Given the description of an element on the screen output the (x, y) to click on. 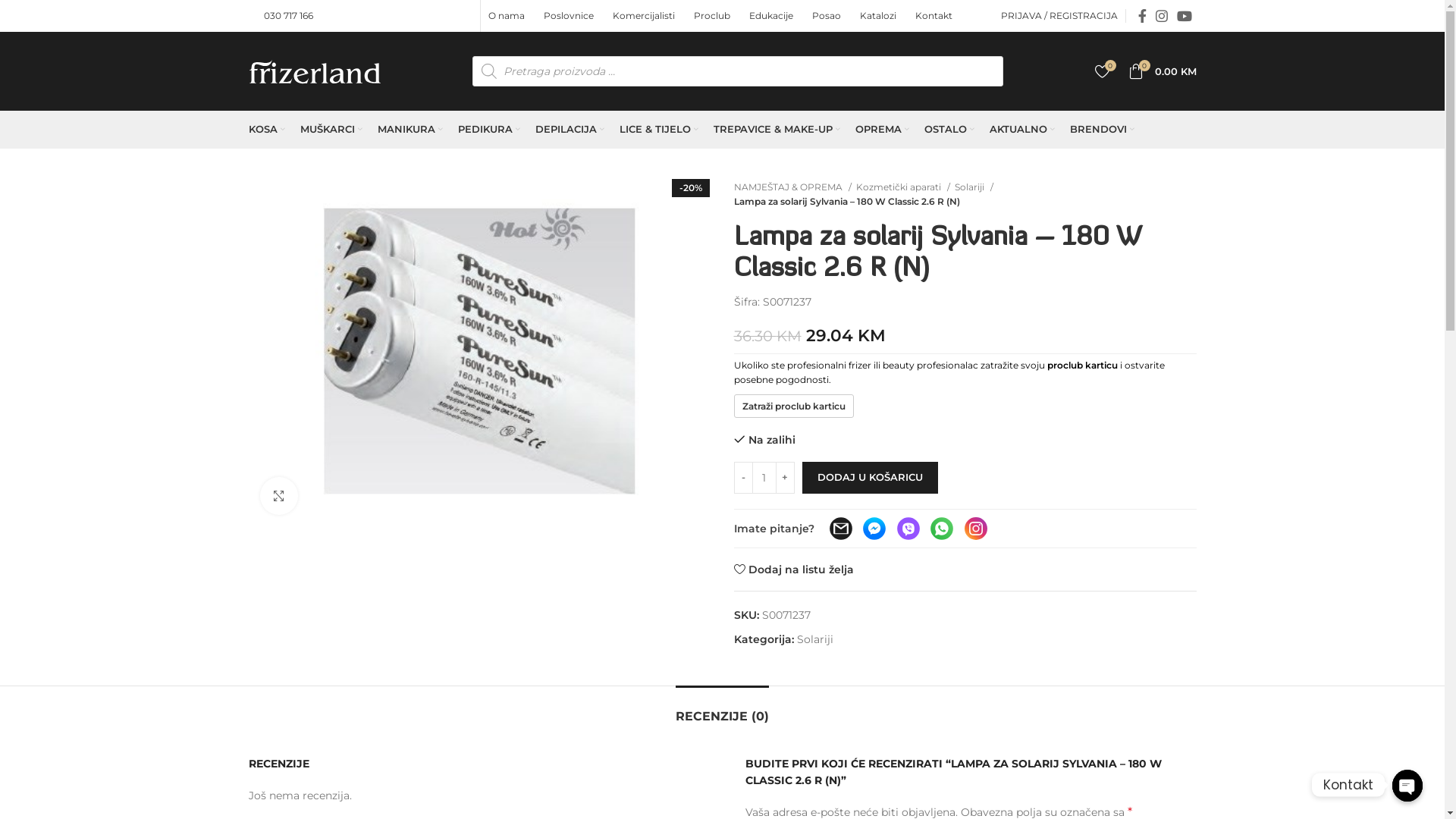
Solariji Element type: text (972, 186)
BRENDOVI Element type: text (1101, 129)
0
0.00 KM Element type: text (1162, 71)
LICE & TIJELO Element type: text (657, 129)
Katalozi Element type: text (879, 15)
Poslovnice Element type: text (570, 15)
OPREMA Element type: text (882, 129)
Posao Element type: text (828, 15)
PRIJAVA / REGISTRACIJA Element type: text (1059, 15)
MANIKURA Element type: text (409, 129)
DEPILACIJA Element type: text (569, 129)
Kontakt Element type: text (935, 15)
AKTUALNO Element type: text (1021, 129)
Edukacije Element type: text (773, 15)
PEDIKURA Element type: text (489, 129)
030 717 166 Element type: text (288, 15)
Prijavi se Element type: text (991, 246)
TREPAVICE & MAKE-UP Element type: text (775, 129)
Proclub Element type: text (713, 15)
Solariji Element type: text (814, 639)
O nama Element type: text (508, 15)
0 Element type: text (1102, 71)
Komercijalisti Element type: text (645, 15)
PureSun Element type: hover (479, 350)
OSTALO Element type: text (948, 129)
KOSA Element type: text (266, 129)
RECENZIJE (0) Element type: text (721, 708)
